Given the description of an element on the screen output the (x, y) to click on. 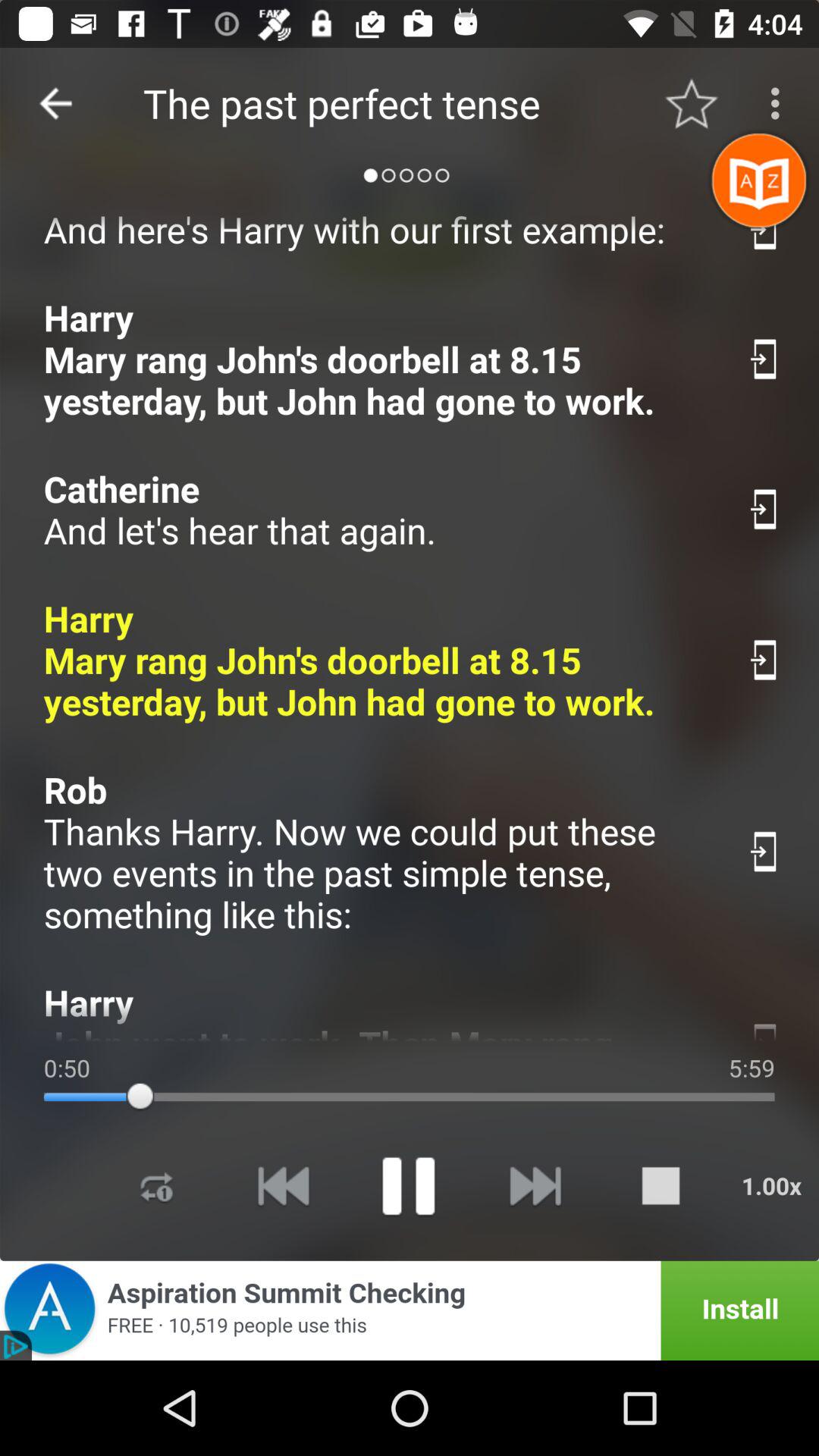
choose icon next to the 1.00x (660, 1185)
